Given the description of an element on the screen output the (x, y) to click on. 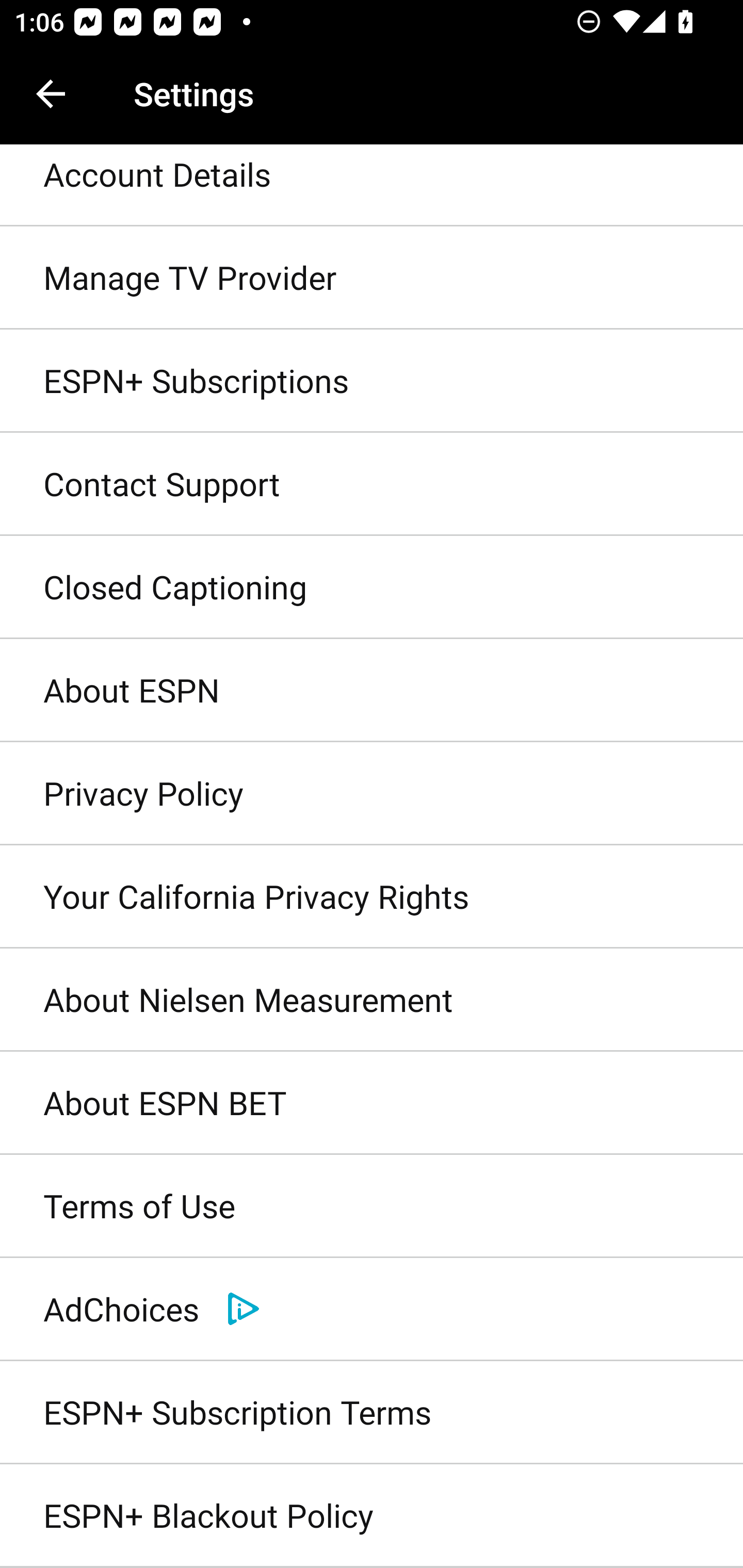
Navigate up (50, 93)
Account Details (371, 185)
Manage TV Provider (371, 277)
ESPN+ Subscriptions (371, 380)
Contact Support (371, 484)
Closed Captioning (371, 587)
About ESPN (371, 691)
Privacy Policy (371, 793)
Your California Privacy Rights (371, 896)
About Nielsen Measurement (371, 1000)
About ESPN BET (371, 1103)
Terms of Use (371, 1207)
AdChoices (371, 1309)
ESPN+ Subscription Terms (371, 1412)
ESPN+ Blackout Policy (371, 1516)
